Given the description of an element on the screen output the (x, y) to click on. 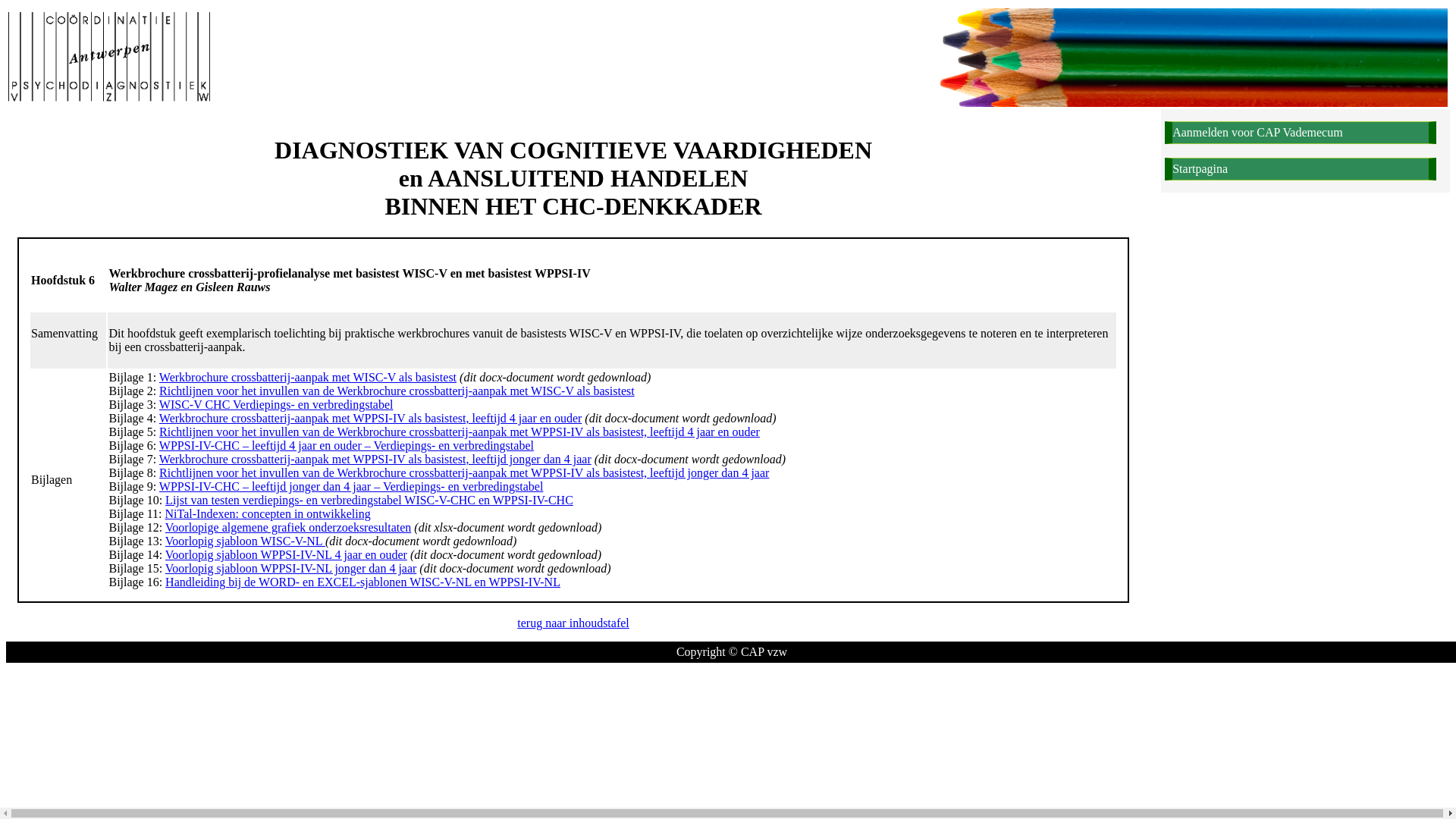
NiTal-Indexen: concepten in ontwikkeling Element type: text (267, 513)
Voorlopig sjabloon WISC-V-NL Element type: text (245, 540)
Startpagina Element type: text (1299, 168)
Voorlopig sjabloon WPPSI-IV-NL jonger dan 4 jaar Element type: text (291, 567)
Aanmelden voor CAP Vademecum Element type: text (1299, 132)
terug naar inhoudstafel Element type: text (573, 622)
Voorlopig sjabloon WPPSI-IV-NL 4 jaar en ouder Element type: text (286, 554)
WISC-V CHC Verdiepings- en verbredingstabel Element type: text (276, 404)
Werkbrochure crossbatterij-aanpak met WISC-V als basistest Element type: text (307, 376)
Voorlopige algemene grafiek onderzoeksresultaten Element type: text (288, 526)
